Given the description of an element on the screen output the (x, y) to click on. 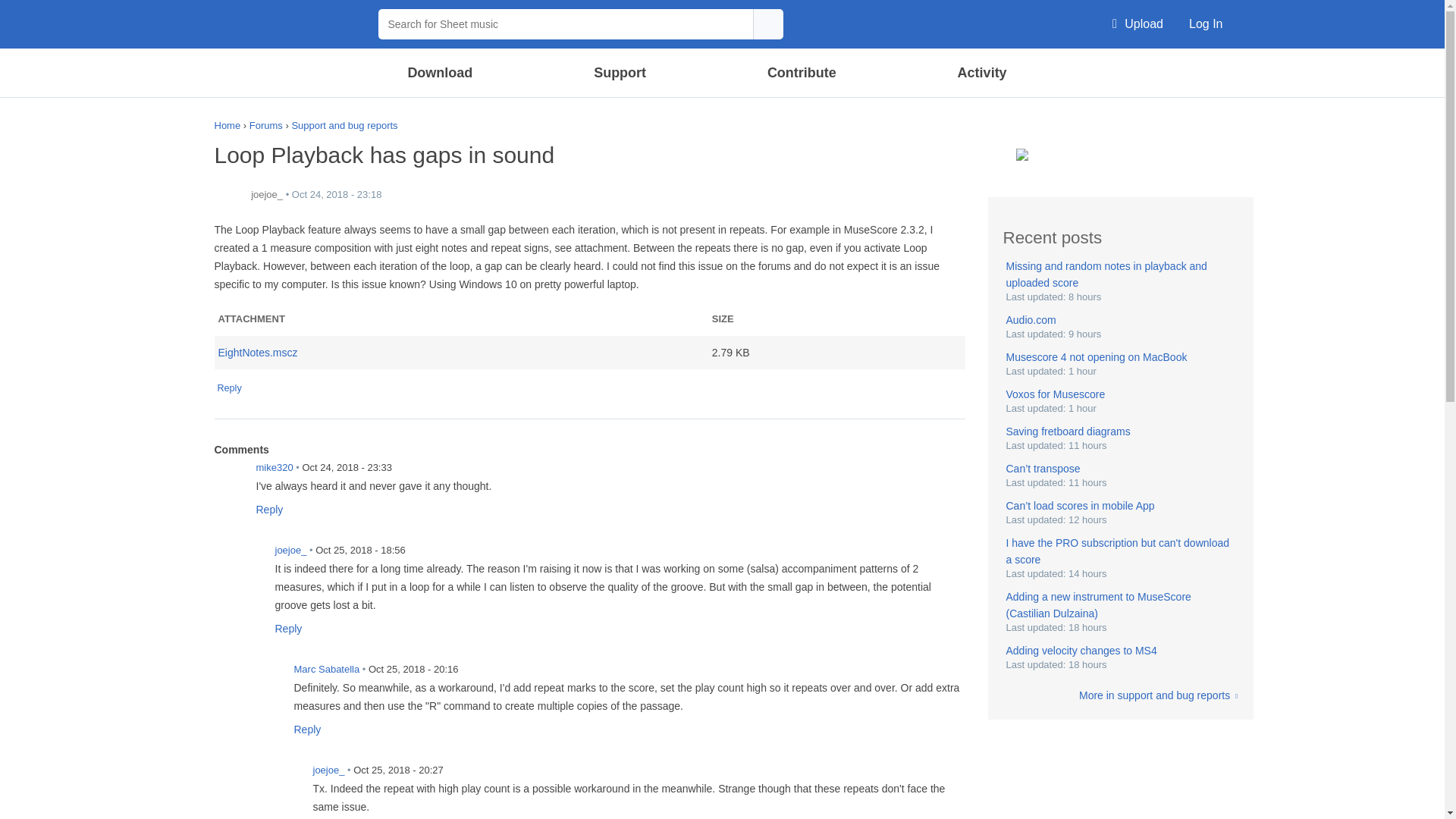
Search (1082, 71)
Download (440, 72)
Contribute (801, 72)
Support (619, 72)
Log In (1205, 24)
Upload (1137, 24)
Activity (981, 72)
Search (767, 24)
MuseScore (287, 23)
Search (767, 24)
Marc Sabatella (266, 678)
mike320 (229, 476)
Home (287, 23)
